Given the description of an element on the screen output the (x, y) to click on. 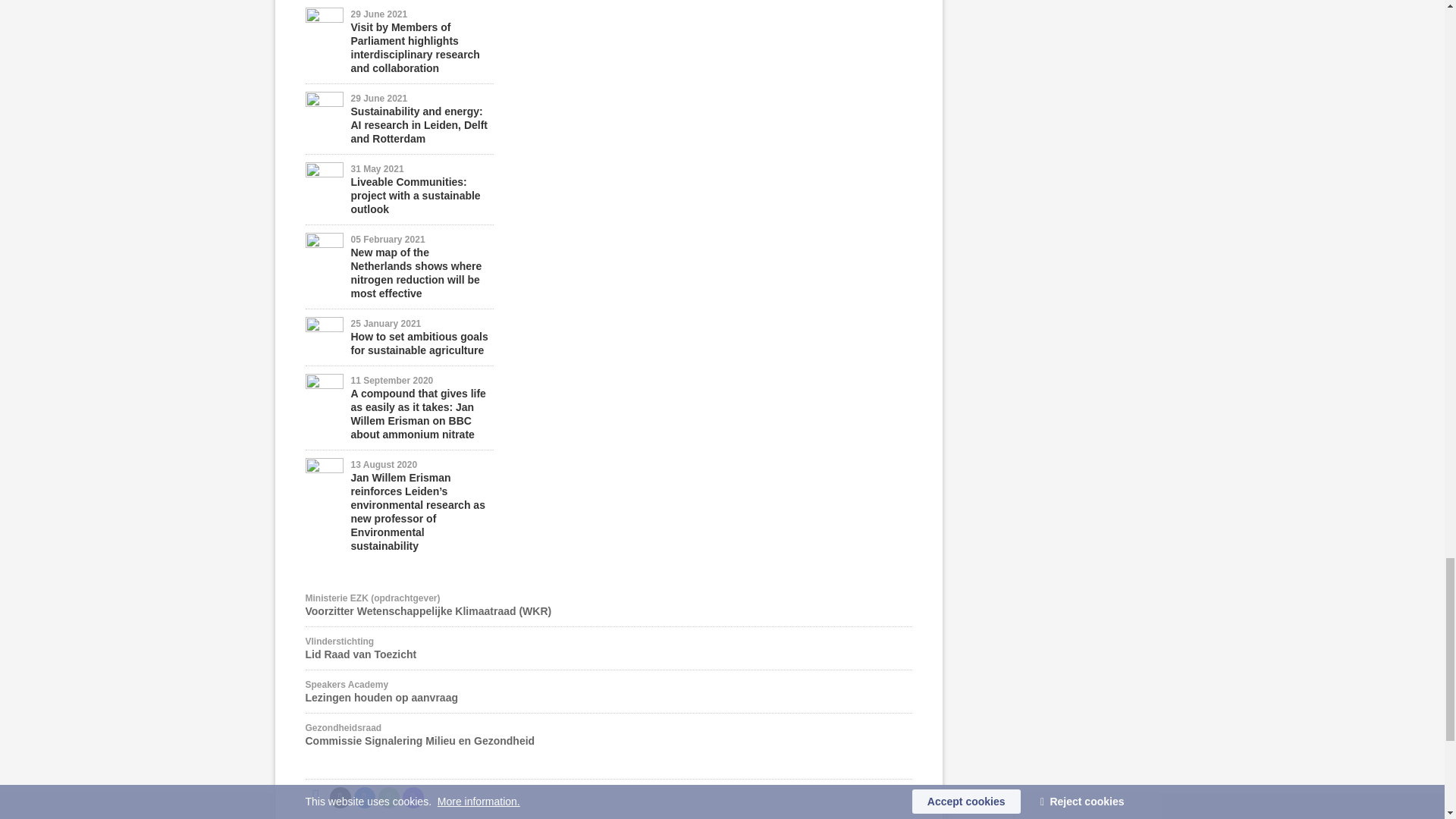
Share by WhatsApp (387, 797)
Share on X (339, 797)
Share on Facebook (315, 797)
Share on LinkedIn (363, 797)
Share by Mastodon (412, 797)
